Given the description of an element on the screen output the (x, y) to click on. 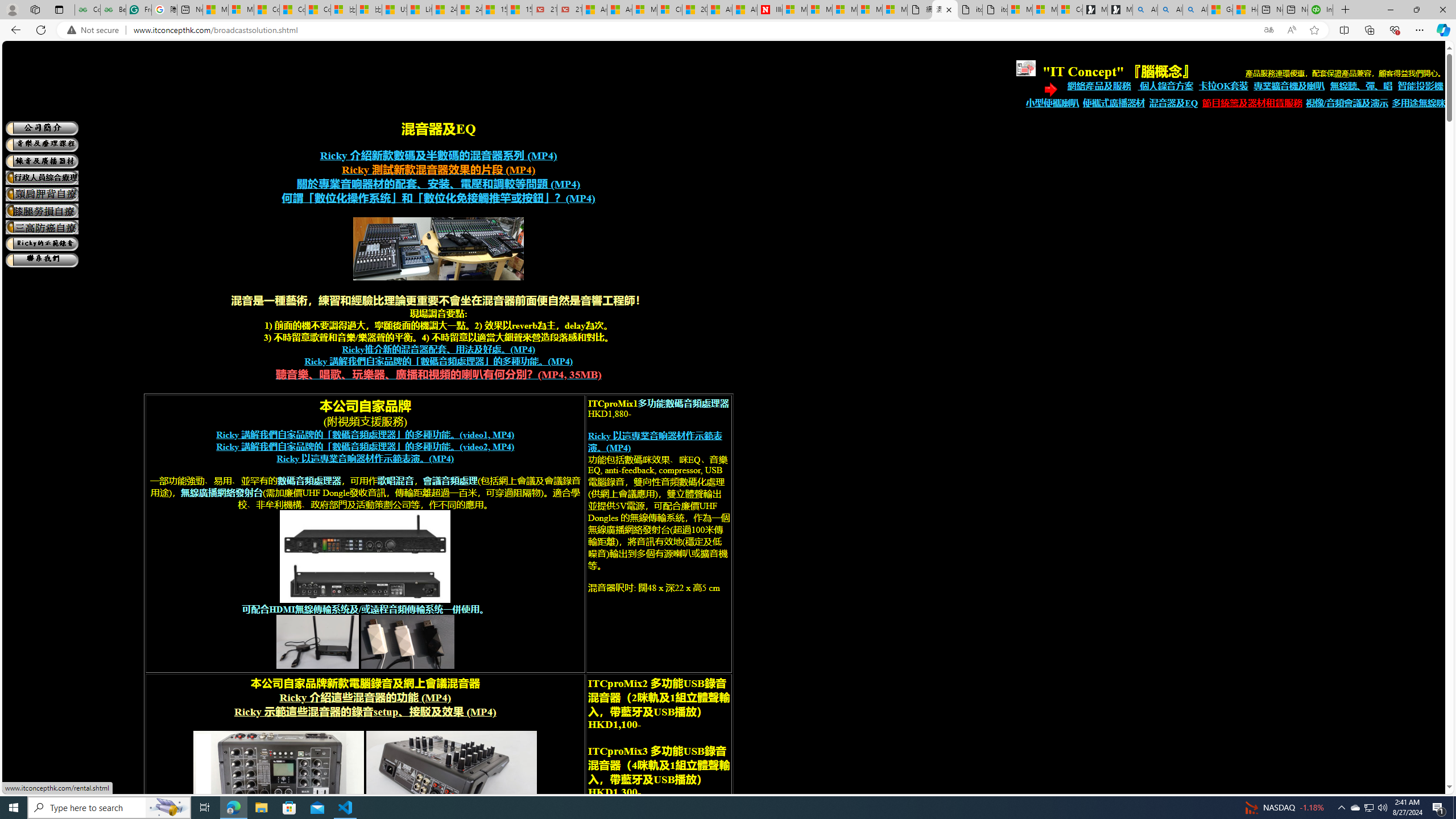
Illness news & latest pictures from Newsweek.com (769, 9)
Lifestyle - MSN (418, 9)
15 Ways Modern Life Contradicts the Teachings of Jesus (519, 9)
Cloud Computing Services | Microsoft Azure (669, 9)
Free AI Writing Assistance for Students | Grammarly (137, 9)
21 Movies That Outdid the Books They Were Based On (568, 9)
